Given the description of an element on the screen output the (x, y) to click on. 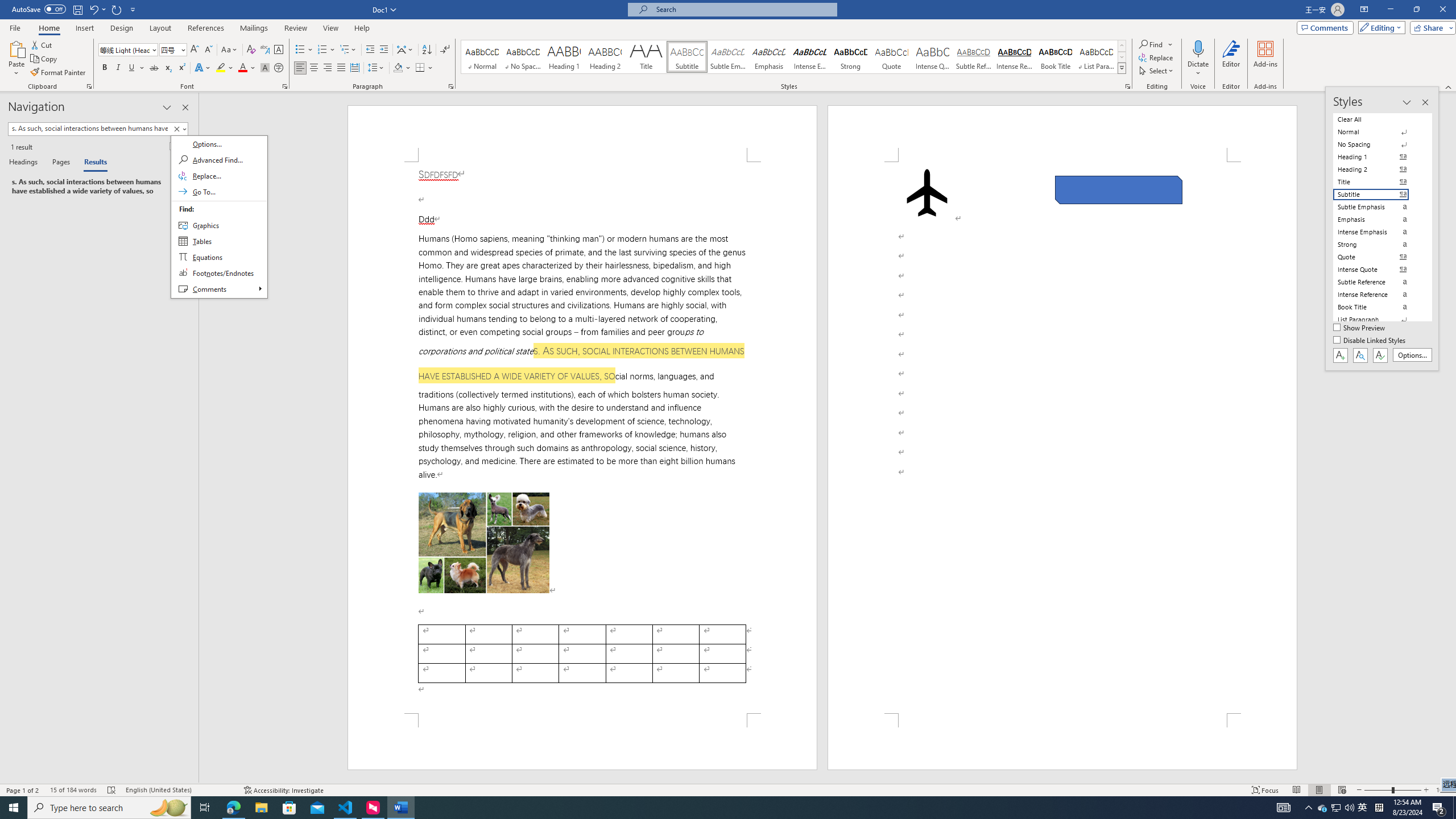
Microsoft search (742, 9)
Options... (1412, 354)
Tray Input Indicator - Chinese (Simplified, China) (1378, 807)
Superscript (180, 67)
Shading RGB(0, 0, 0) (397, 67)
Start (13, 807)
Paragraph... (450, 85)
Heading 1 (564, 56)
Emphasis (768, 56)
Quote (891, 56)
Title (646, 56)
Styles (1121, 67)
